Given the description of an element on the screen output the (x, y) to click on. 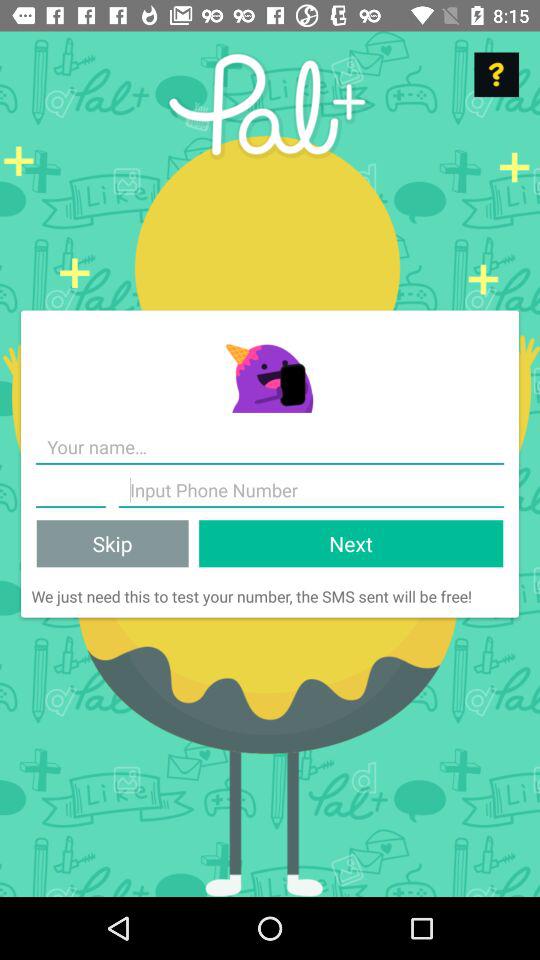
type your phone number (70, 490)
